Given the description of an element on the screen output the (x, y) to click on. 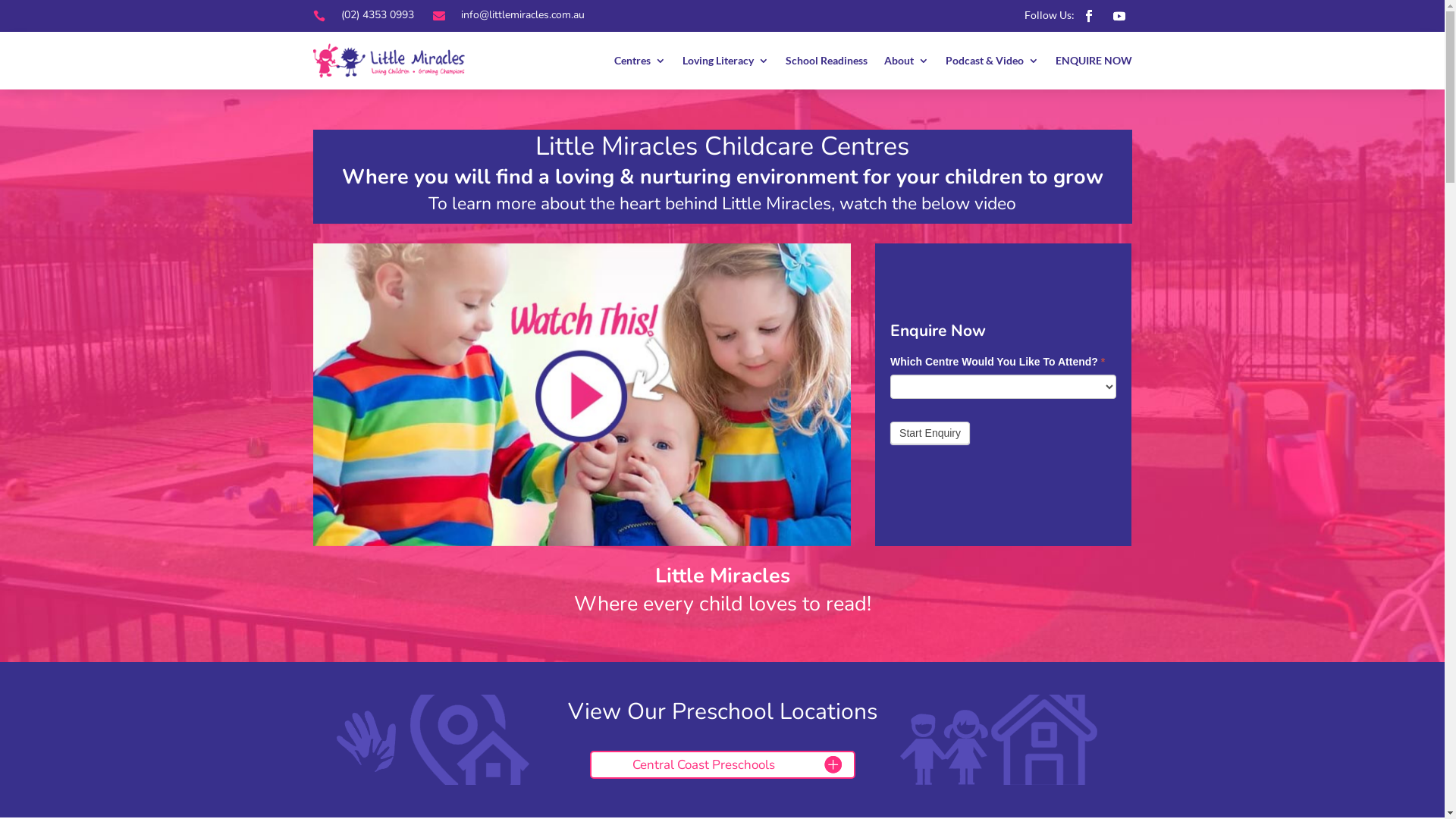
ENQUIRE NOW Element type: text (1093, 60)
Centres Element type: text (639, 60)
Follow on Youtube Element type: hover (1119, 15)
School Readiness Element type: text (826, 60)
info@littlemiracles.com.au Element type: text (522, 14)
Follow on Facebook Element type: hover (1088, 15)
Podcast & Video Element type: text (991, 60)
Start Enquiry Element type: text (929, 432)
Loving Literacy Element type: text (725, 60)
About Element type: text (906, 60)
Little Miracles Game Changers Interview with Sarah Harris Element type: hover (581, 394)
(02) 4353 0993 Element type: text (377, 14)
